Given the description of an element on the screen output the (x, y) to click on. 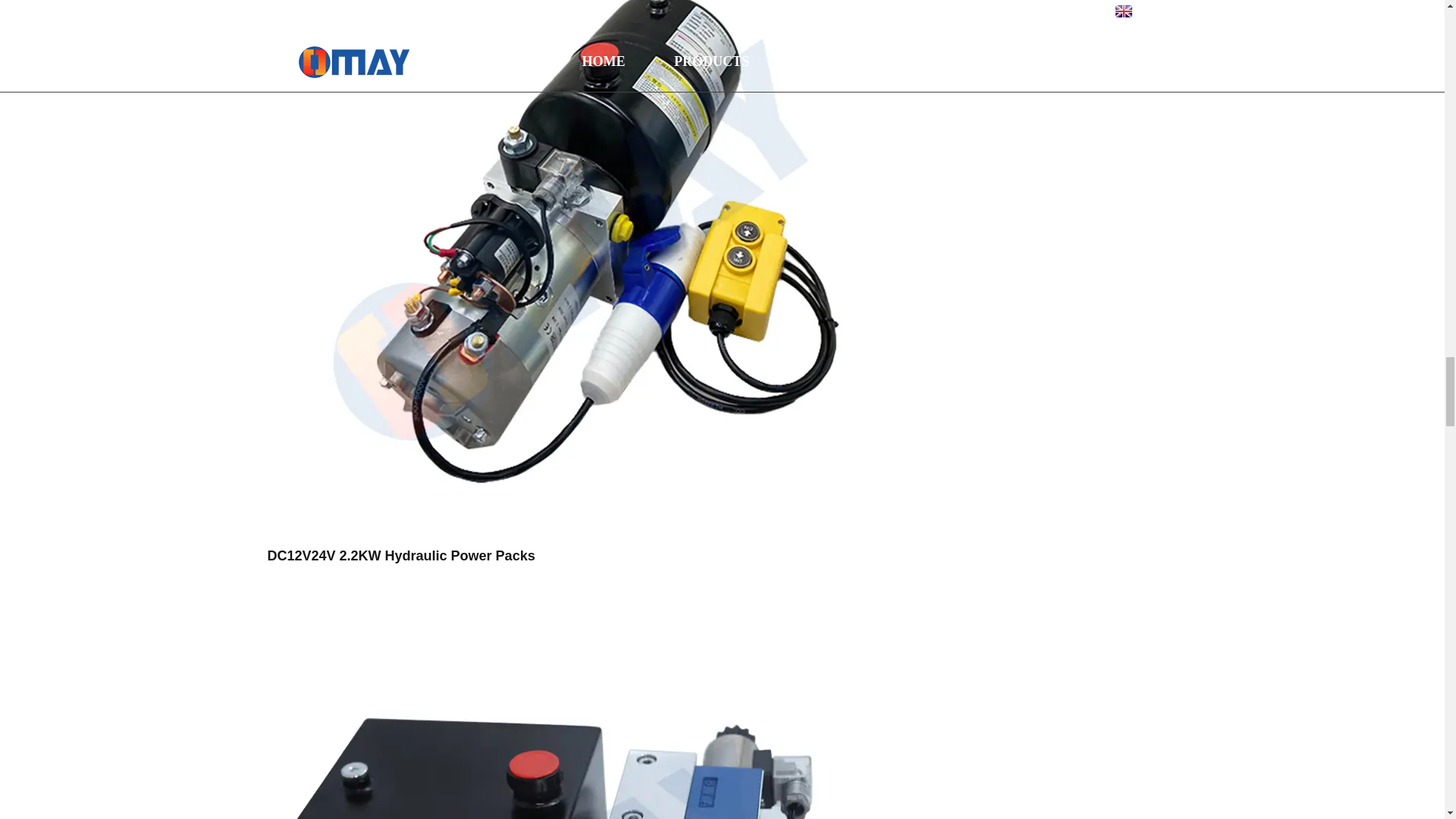
DC12V24V 2.2KW Hydraulic Power Packs (569, 238)
DC12V24V 2.2KW Hydraulic Power Packs (400, 555)
DC12V24V 2.2KW Hydraulic Power Packs (400, 555)
